Given the description of an element on the screen output the (x, y) to click on. 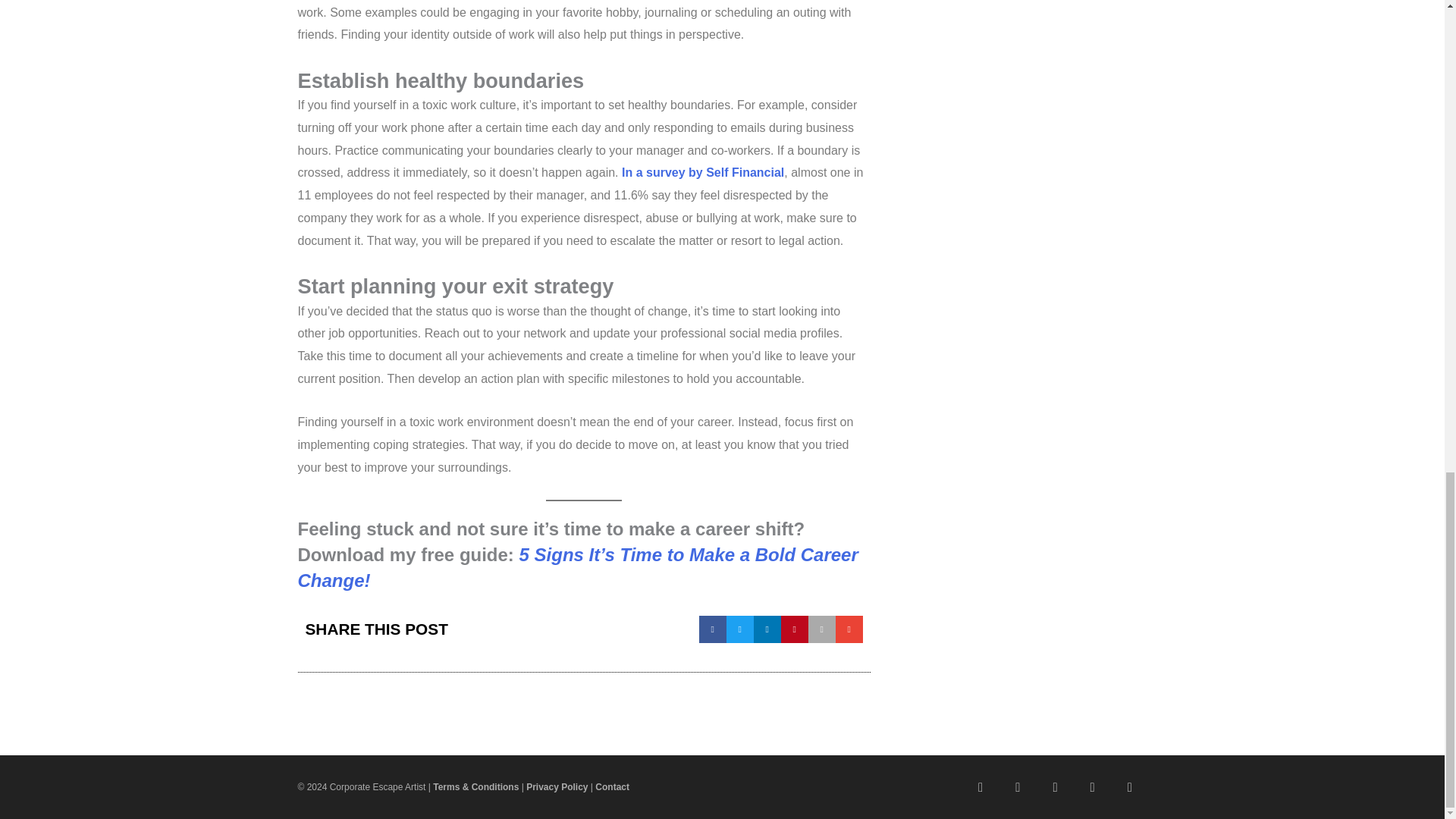
Facebook (1054, 786)
X-twitter (1130, 786)
Envelope (980, 786)
Privacy Policy (556, 787)
In a survey by Self Financial (702, 172)
Linkedin (1017, 786)
Instagram (1092, 786)
Contact (611, 787)
